Given the description of an element on the screen output the (x, y) to click on. 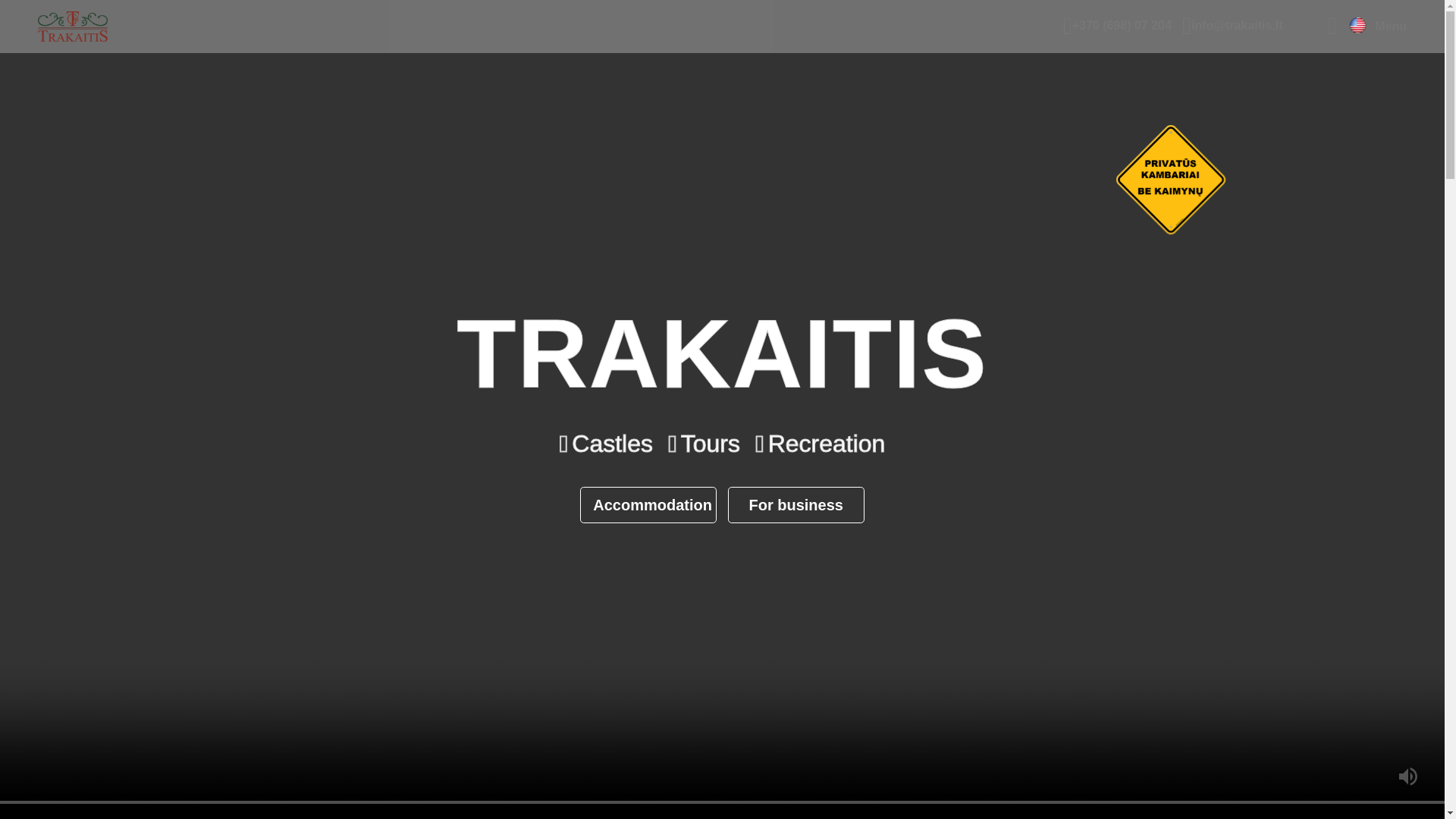
For business (796, 504)
Accommodation (647, 504)
